Given the description of an element on the screen output the (x, y) to click on. 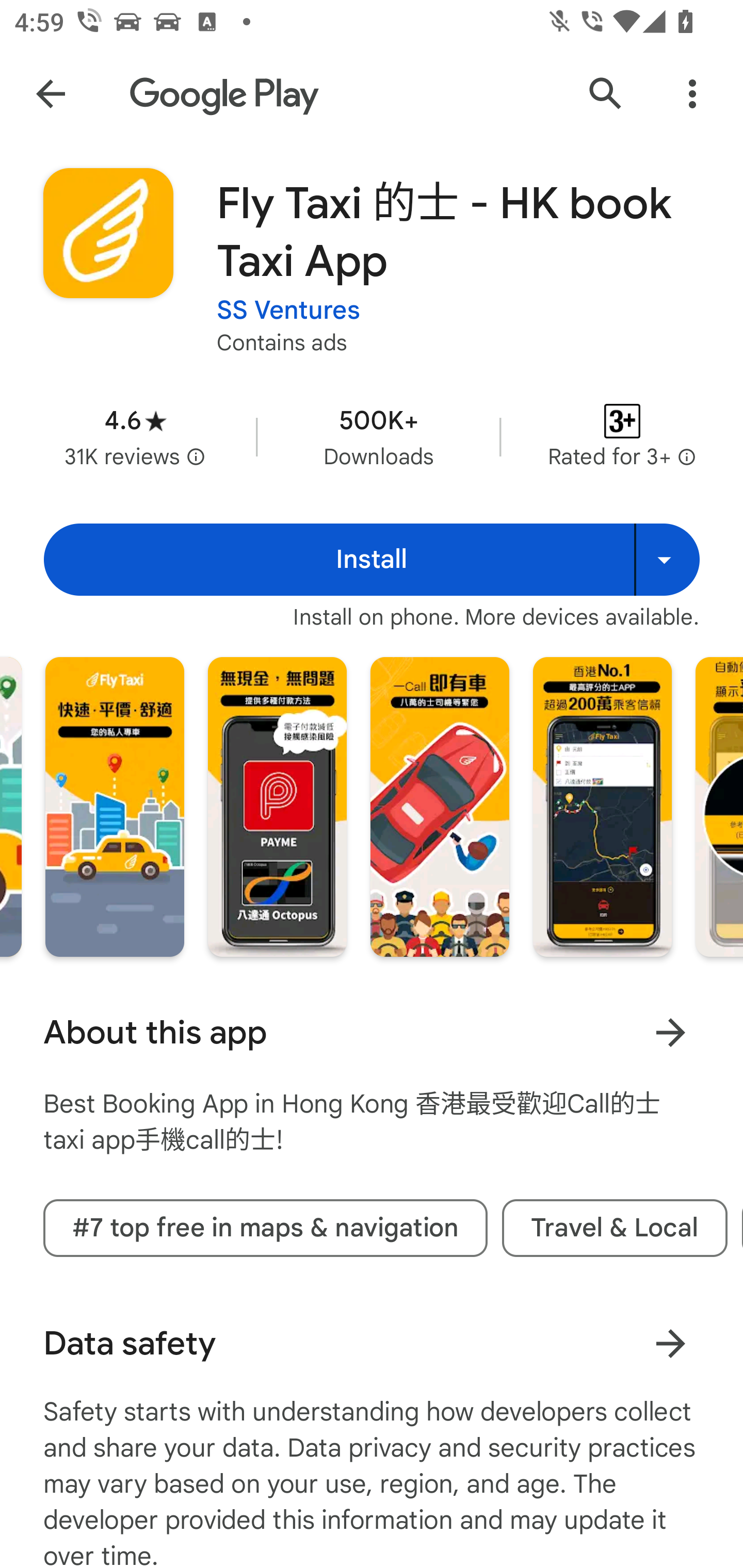
Navigate up (50, 93)
Search Google Play (605, 93)
More Options (692, 93)
SS Ventures (288, 310)
Average rating 4.6 stars in 31 thousand reviews (135, 436)
Content rating Rated for 3+ (622, 436)
Install Install Install on more devices (371, 559)
Install on more devices (667, 559)
Screenshot "1" of "8" (114, 806)
Screenshot "2" of "8" (277, 806)
Screenshot "3" of "8" (439, 806)
Screenshot "4" of "8" (601, 806)
About this app Learn more About this app (371, 1032)
Learn more About this app (670, 1032)
#7 top free in maps & navigation tag (265, 1228)
Travel & Local tag (614, 1228)
Data safety Learn more about data safety (371, 1343)
Learn more about data safety (670, 1343)
